Given the description of an element on the screen output the (x, y) to click on. 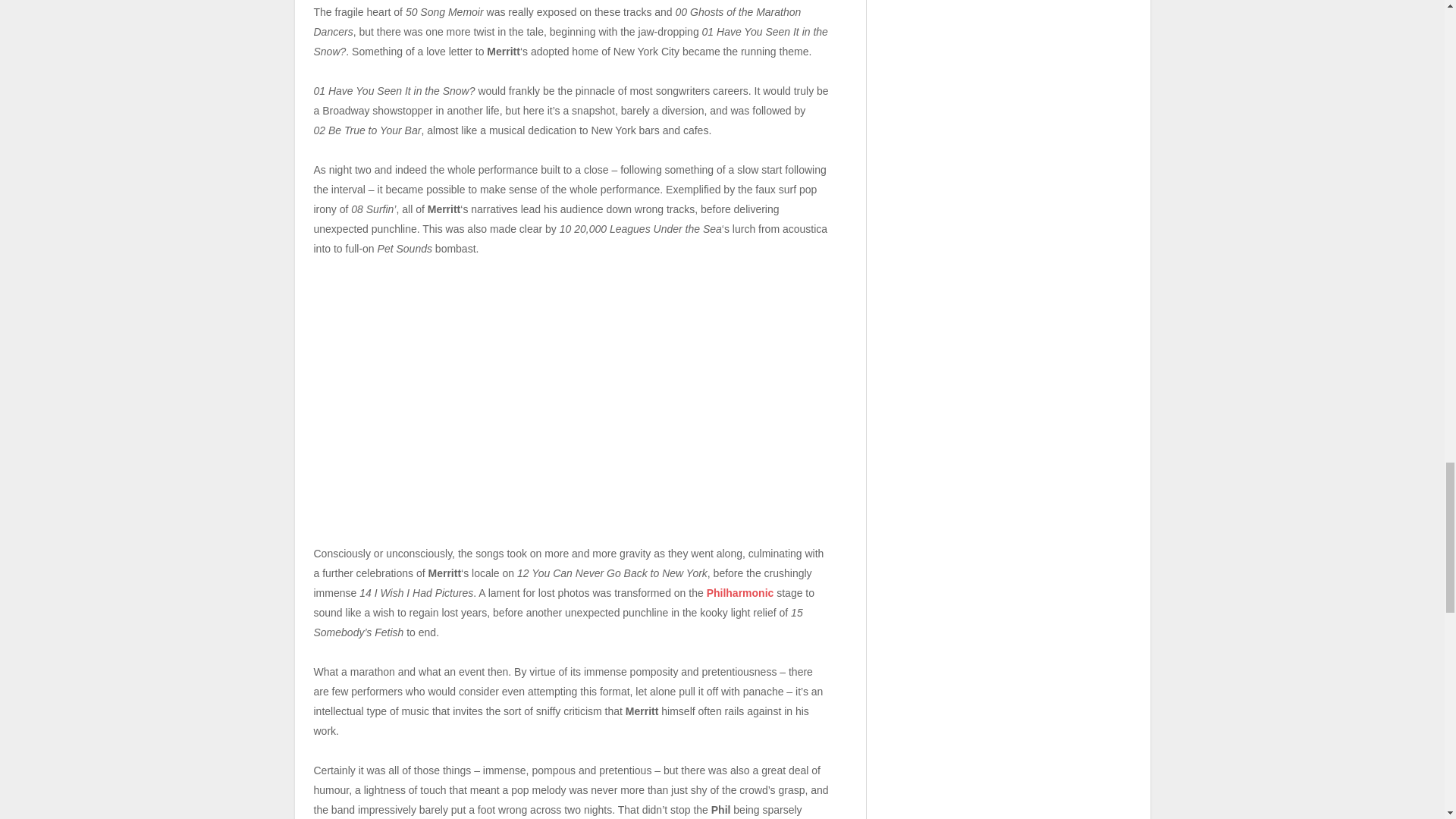
Philharmonic (740, 592)
